Given the description of an element on the screen output the (x, y) to click on. 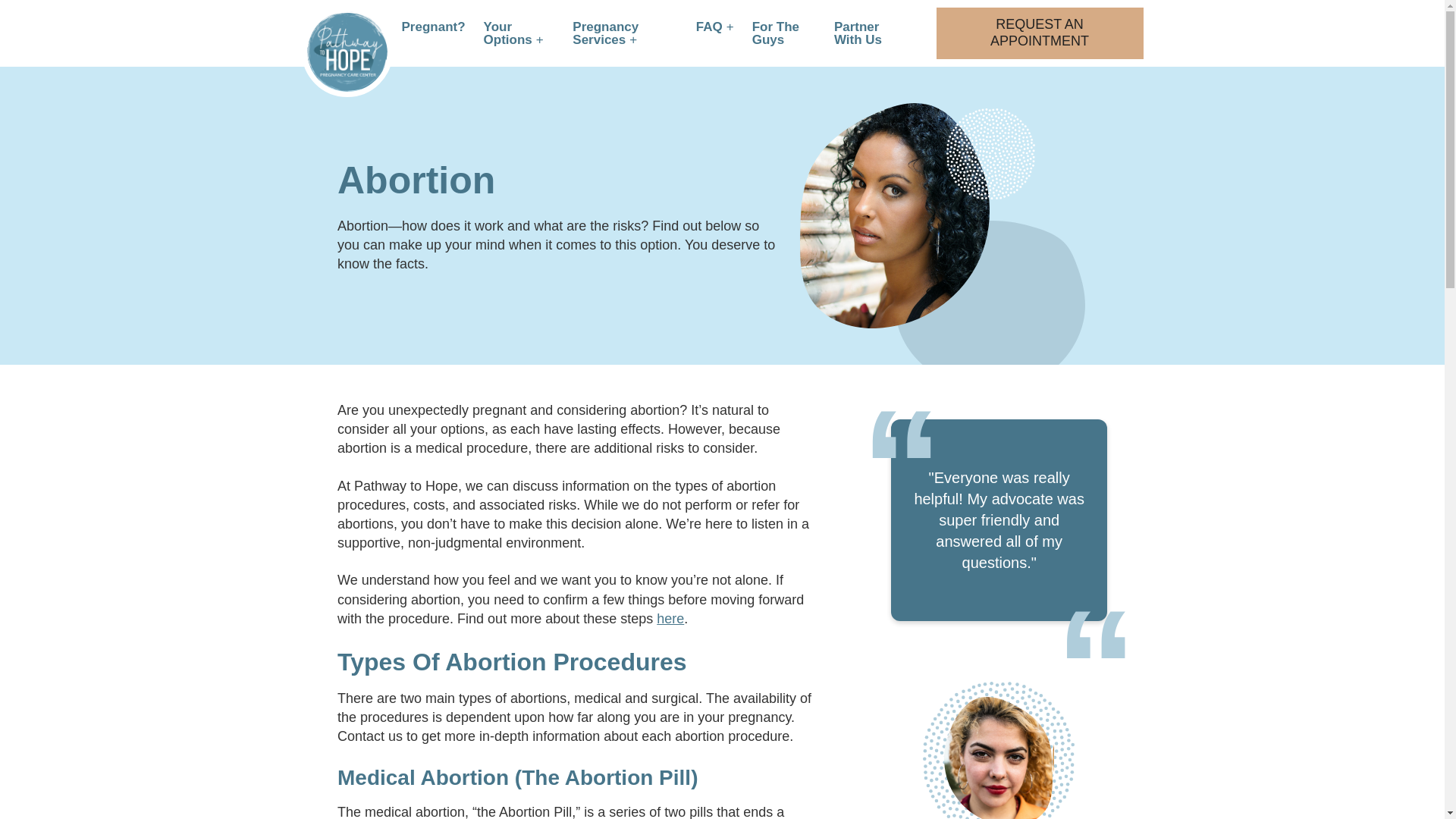
Partner with Us (871, 33)
here (670, 618)
Partner With Us (871, 33)
Pregnancy Services (624, 33)
For The Guys (783, 33)
Your Options (519, 33)
Pregnant? (433, 26)
For the Guys (783, 33)
FAQ (714, 26)
Pregnancy Services (624, 33)
REQUEST AN APPOINTMENT (1039, 32)
Pregnant? (433, 26)
Your Options (519, 33)
FAQ (714, 26)
